Given the description of an element on the screen output the (x, y) to click on. 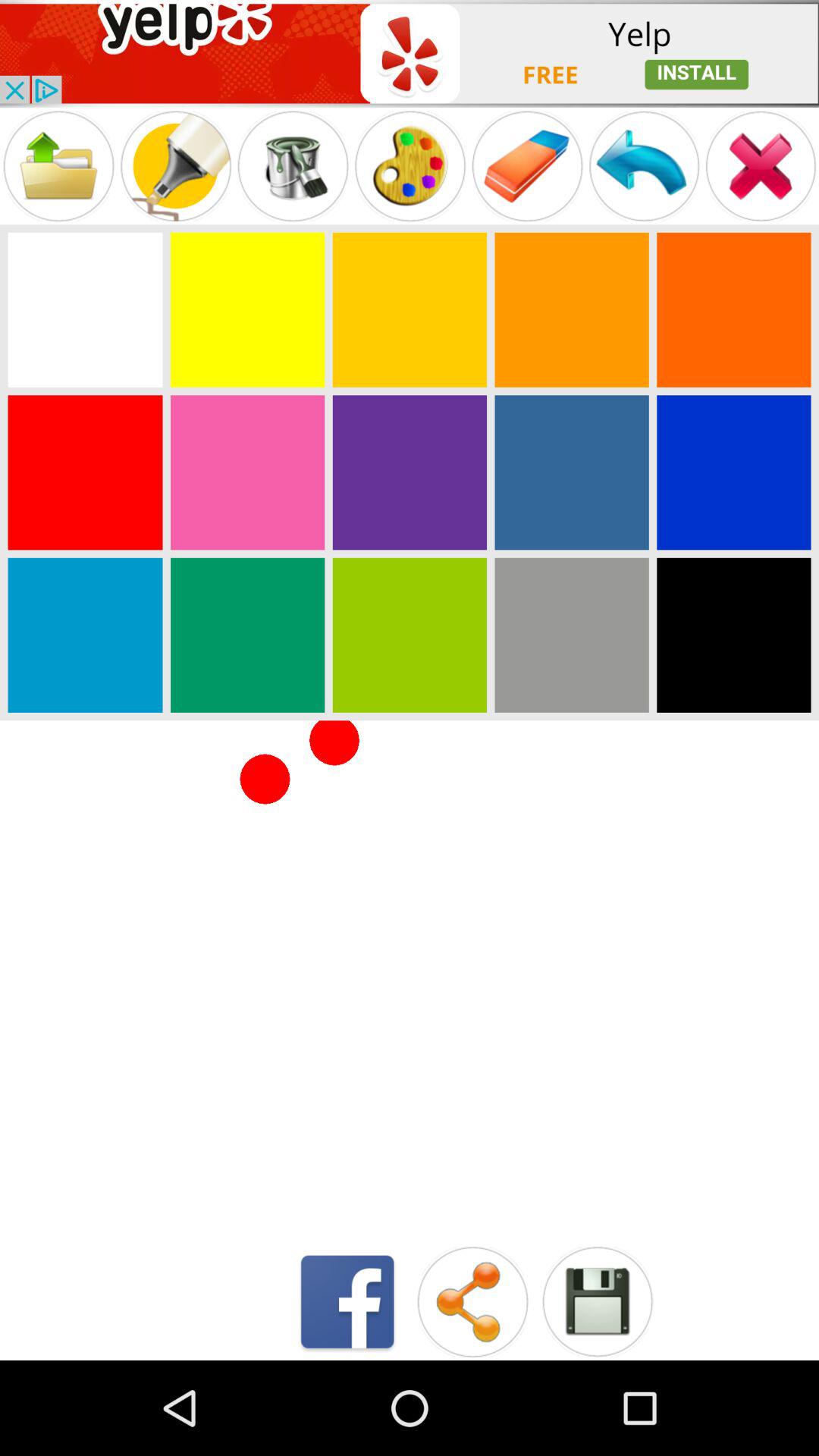
exit app (760, 165)
